Given the description of an element on the screen output the (x, y) to click on. 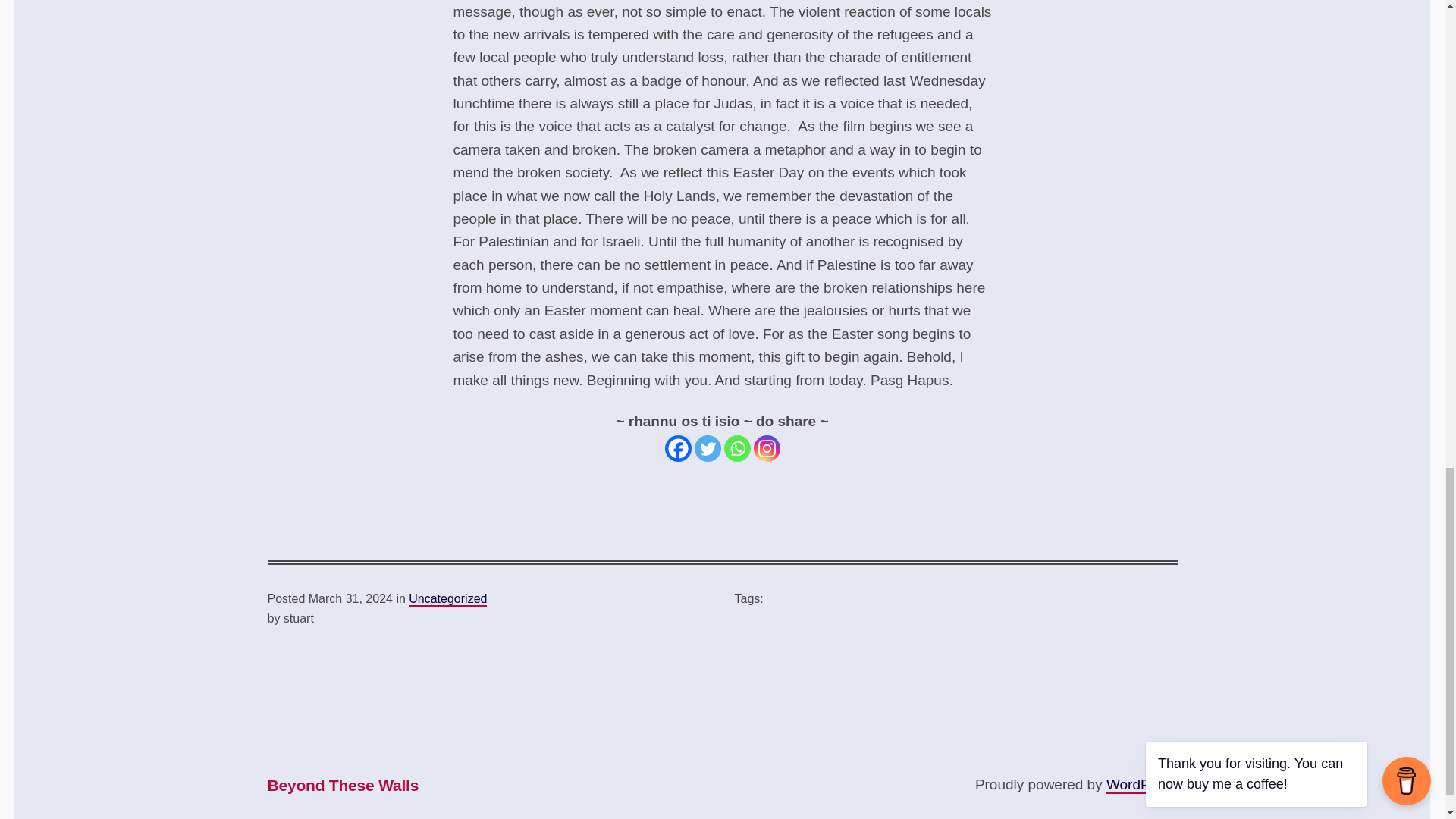
Instagram (767, 447)
Beyond These Walls (342, 785)
WordPress (1141, 784)
Whatsapp (736, 447)
Uncategorized (447, 599)
Twitter (707, 447)
Facebook (676, 447)
